Given the description of an element on the screen output the (x, y) to click on. 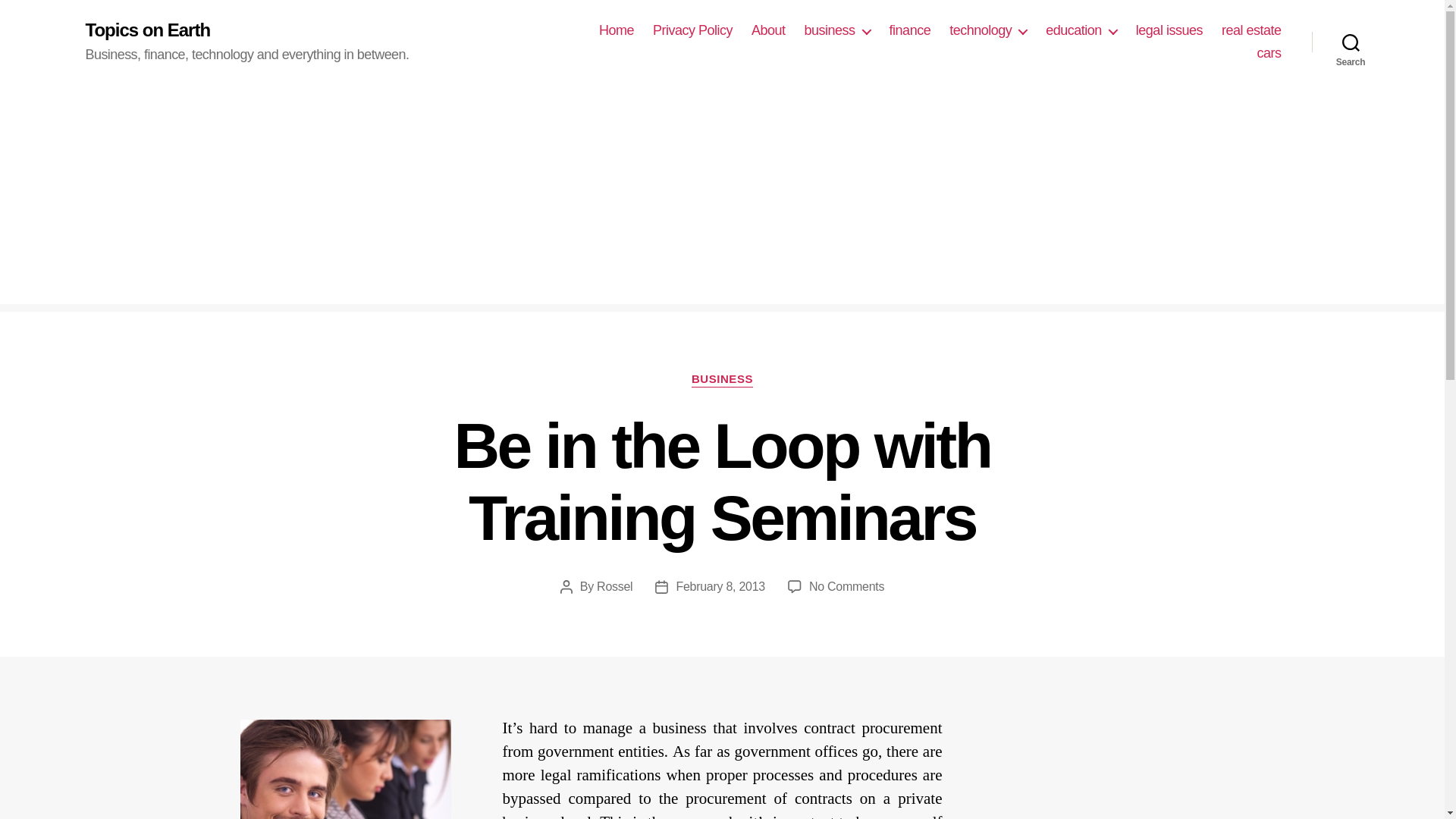
About (768, 30)
Topics on Earth (146, 30)
Search (1350, 41)
technology (987, 30)
real estate (1251, 30)
finance (910, 30)
education (1080, 30)
cars (1268, 53)
legal issues (1168, 30)
